Given the description of an element on the screen output the (x, y) to click on. 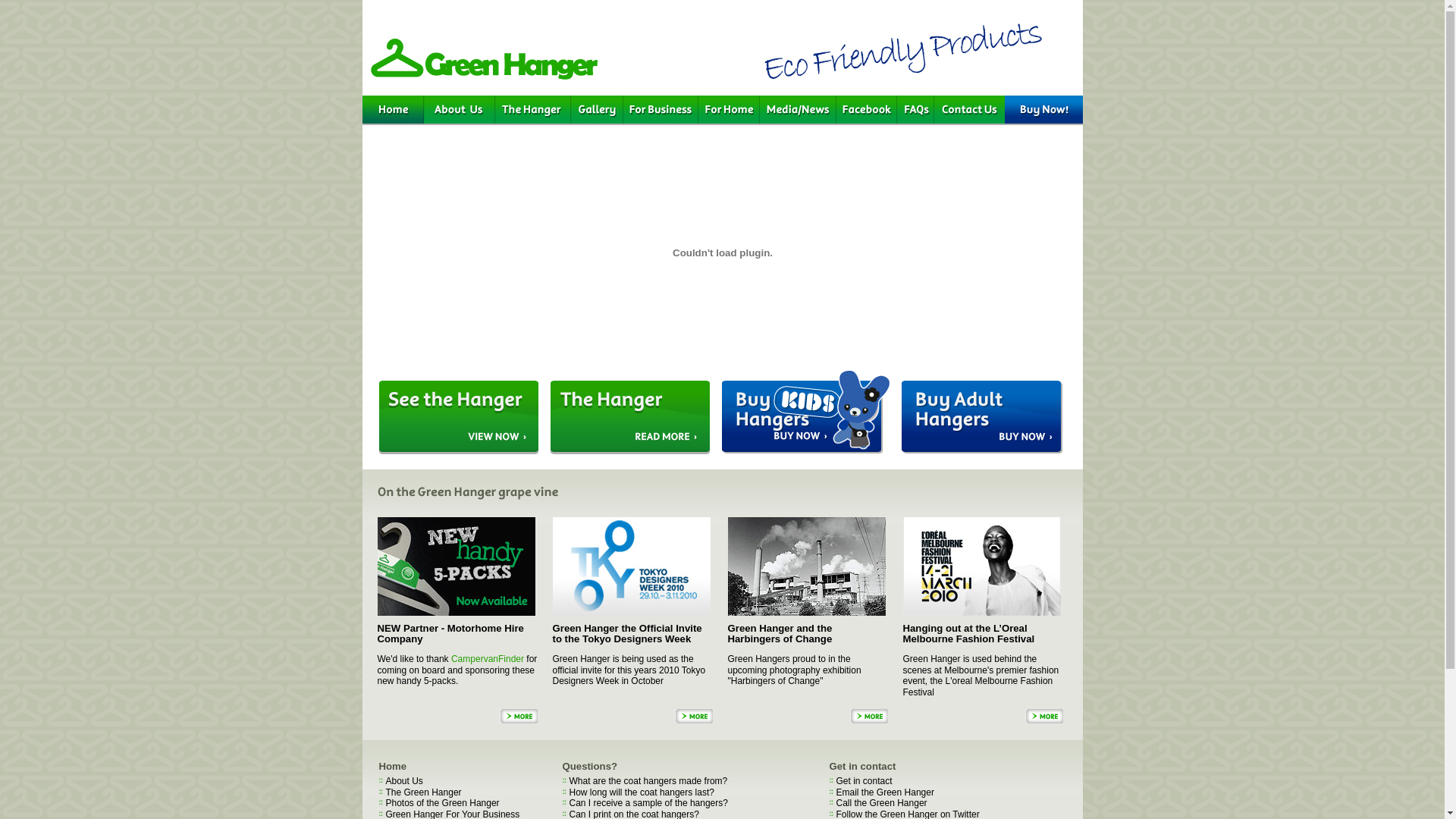
For Home Element type: text (728, 110)
More Element type: text (1044, 716)
The Green Hanger Element type: text (423, 792)
More Element type: text (517, 716)
The Hanger Element type: text (532, 110)
Facebook Element type: text (865, 110)
Media/News Element type: text (797, 110)
Can I receive a sample of the hangers? Element type: text (647, 802)
Buy Now Element type: text (1043, 110)
Photos of the Green Hanger Element type: text (441, 802)
About Us Element type: text (458, 110)
Email the Green Hanger Element type: text (884, 792)
How long will the coat hangers last? Element type: text (640, 792)
Call the Green Hanger Element type: text (880, 802)
About Us Element type: text (403, 780)
More Element type: text (868, 716)
More Element type: text (693, 716)
Gallery Element type: text (596, 110)
Get in contact Element type: text (863, 780)
Contact Us Element type: text (969, 110)
FAQs Element type: text (914, 110)
What are the coat hangers made from? Element type: text (647, 780)
CampervanFinder Element type: text (487, 658)
For Business Element type: text (660, 110)
